Given the description of an element on the screen output the (x, y) to click on. 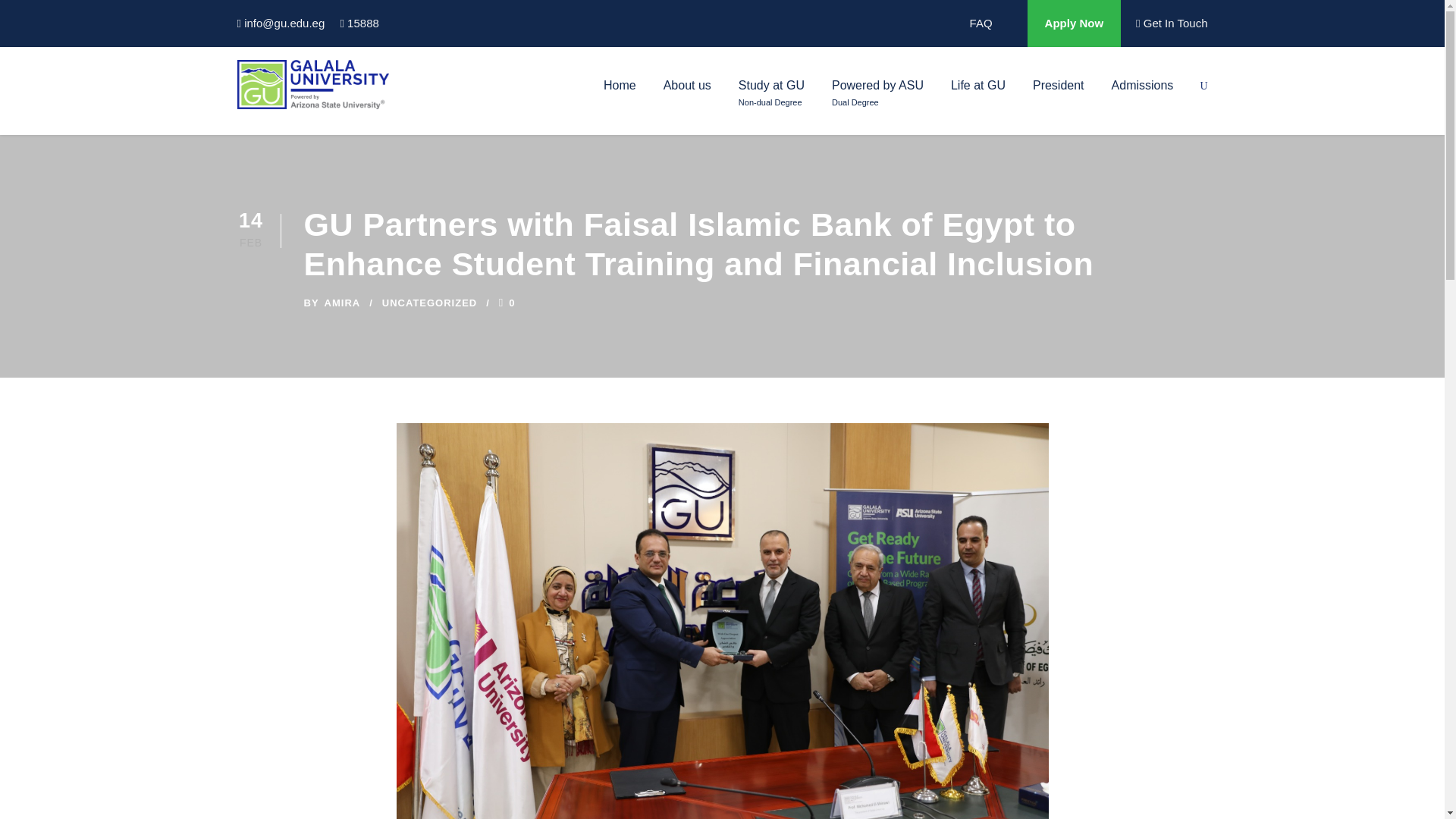
Posts by Amira (342, 302)
